Given the description of an element on the screen output the (x, y) to click on. 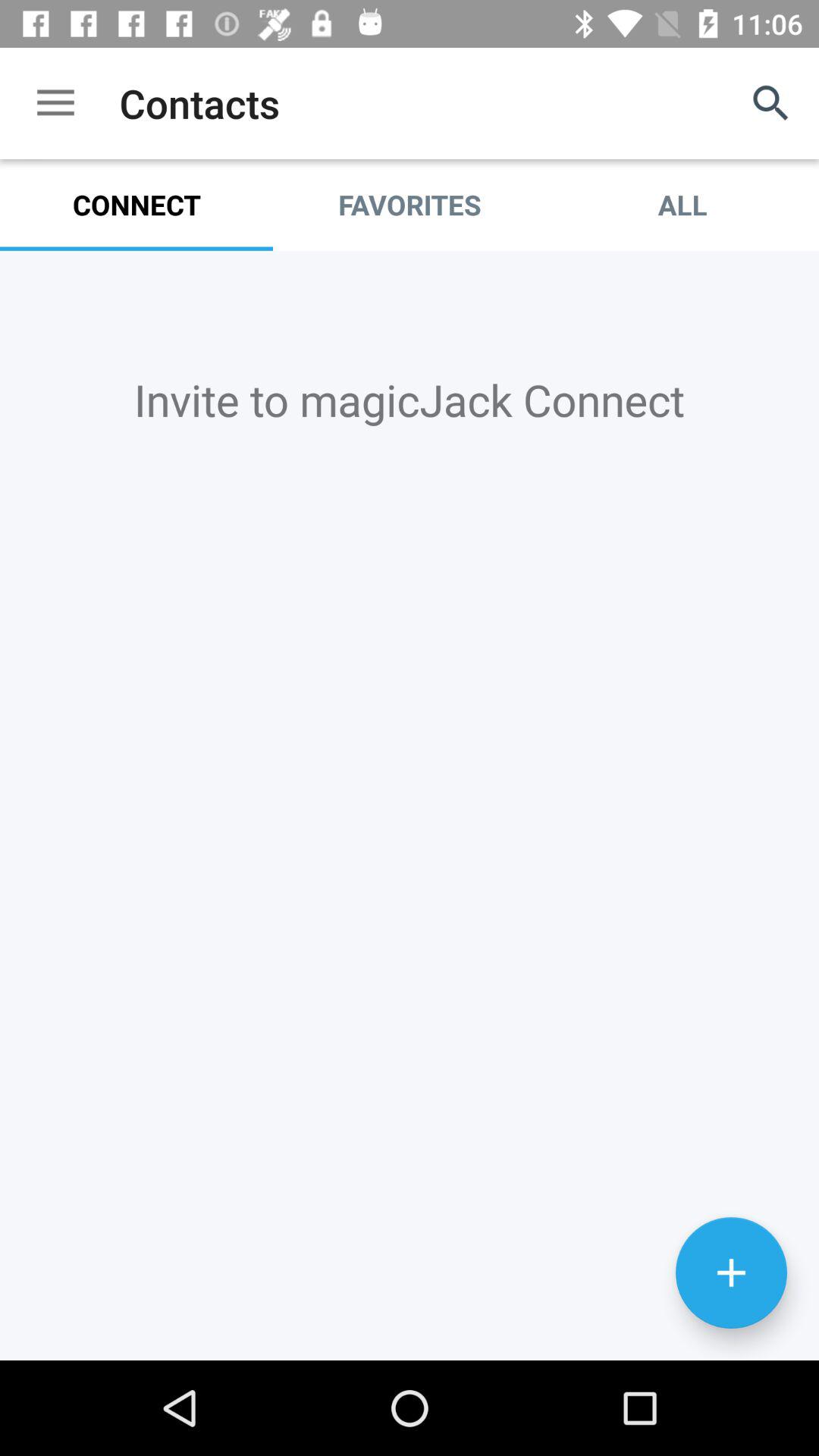
turn on item to the left of contacts item (55, 103)
